Given the description of an element on the screen output the (x, y) to click on. 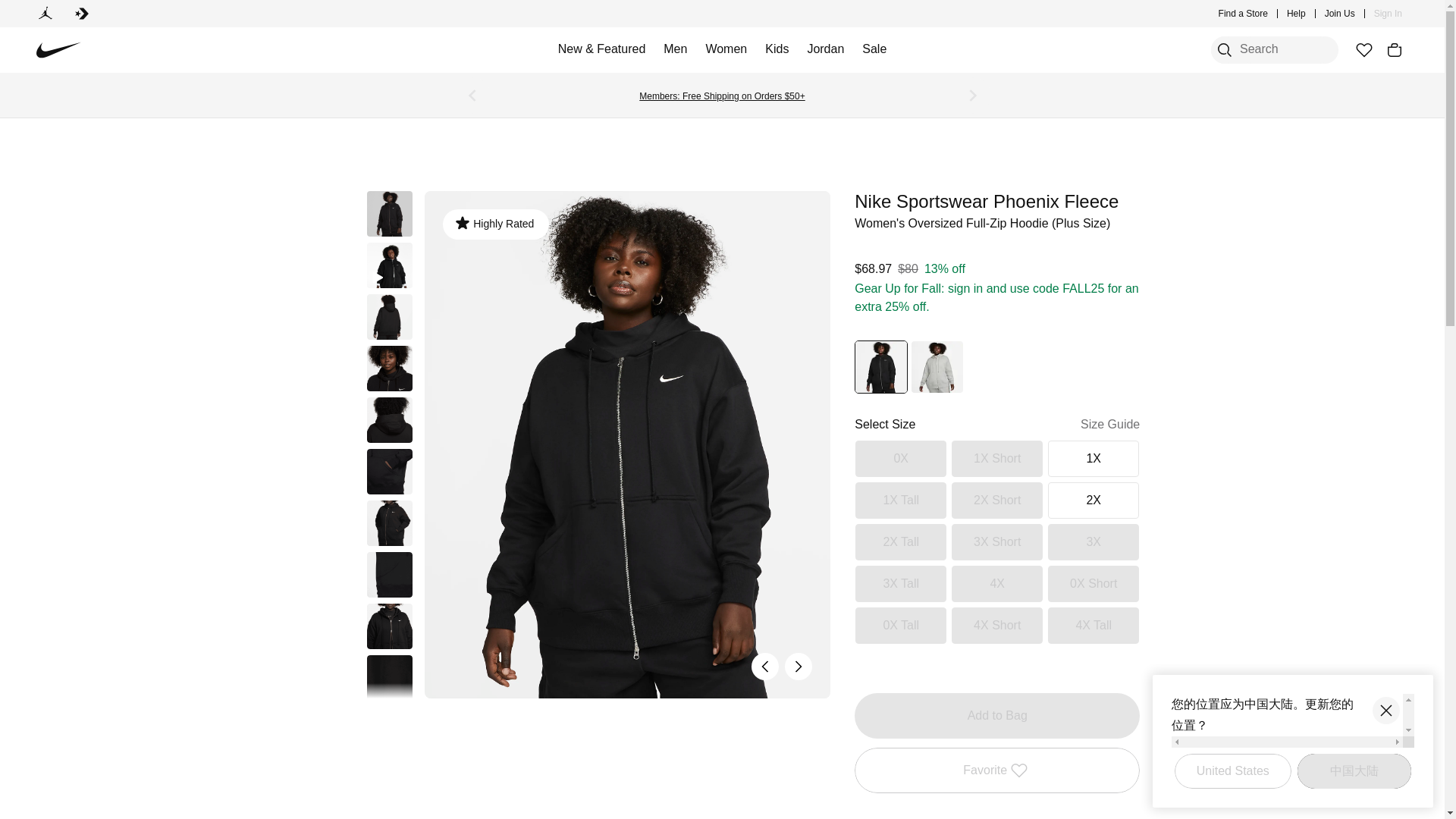
Find a Store (1243, 13)
Join Us (1339, 13)
